Given the description of an element on the screen output the (x, y) to click on. 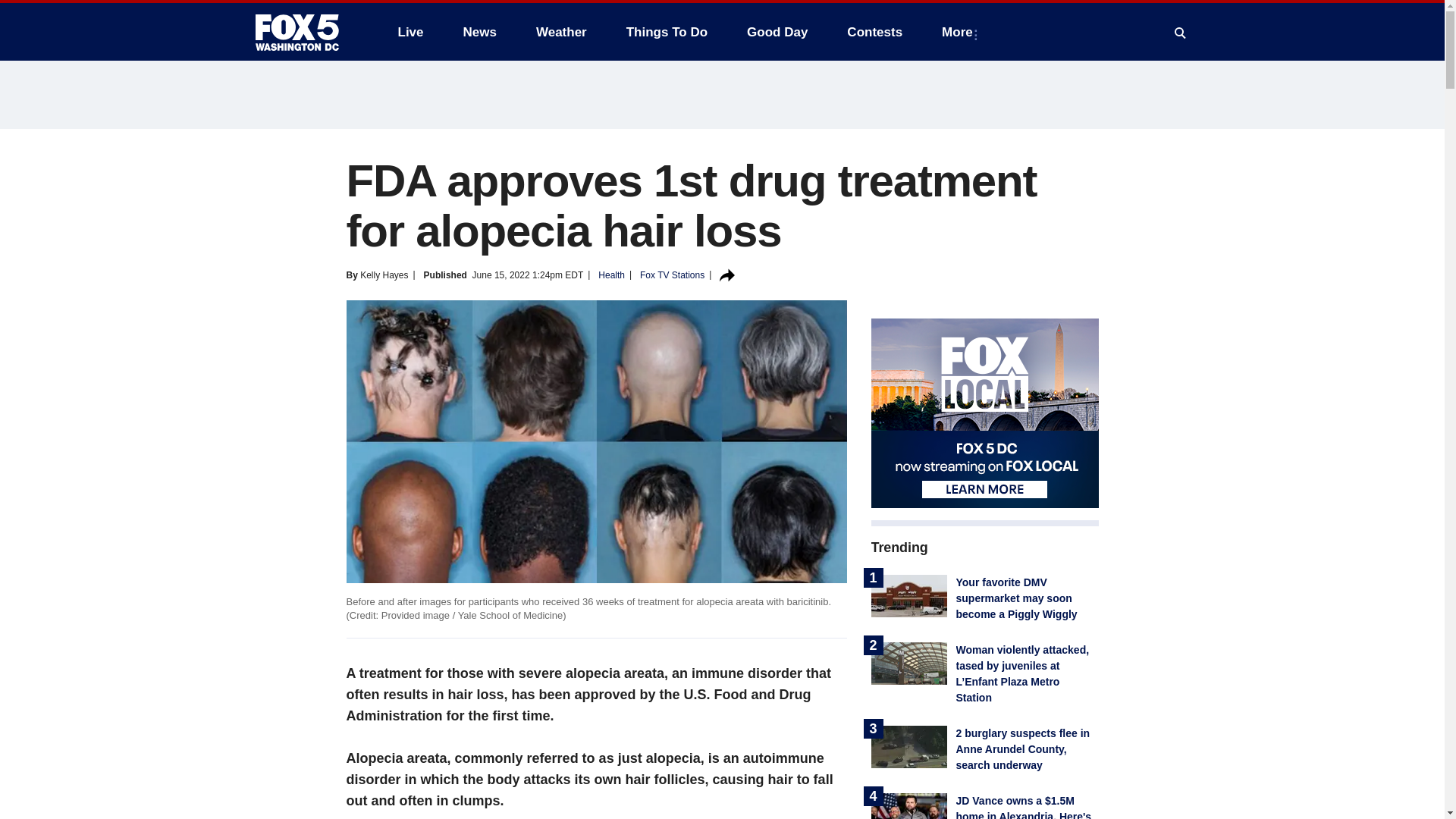
Good Day (777, 32)
Weather (561, 32)
News (479, 32)
Contests (874, 32)
More (960, 32)
Live (410, 32)
Things To Do (666, 32)
